Given the description of an element on the screen output the (x, y) to click on. 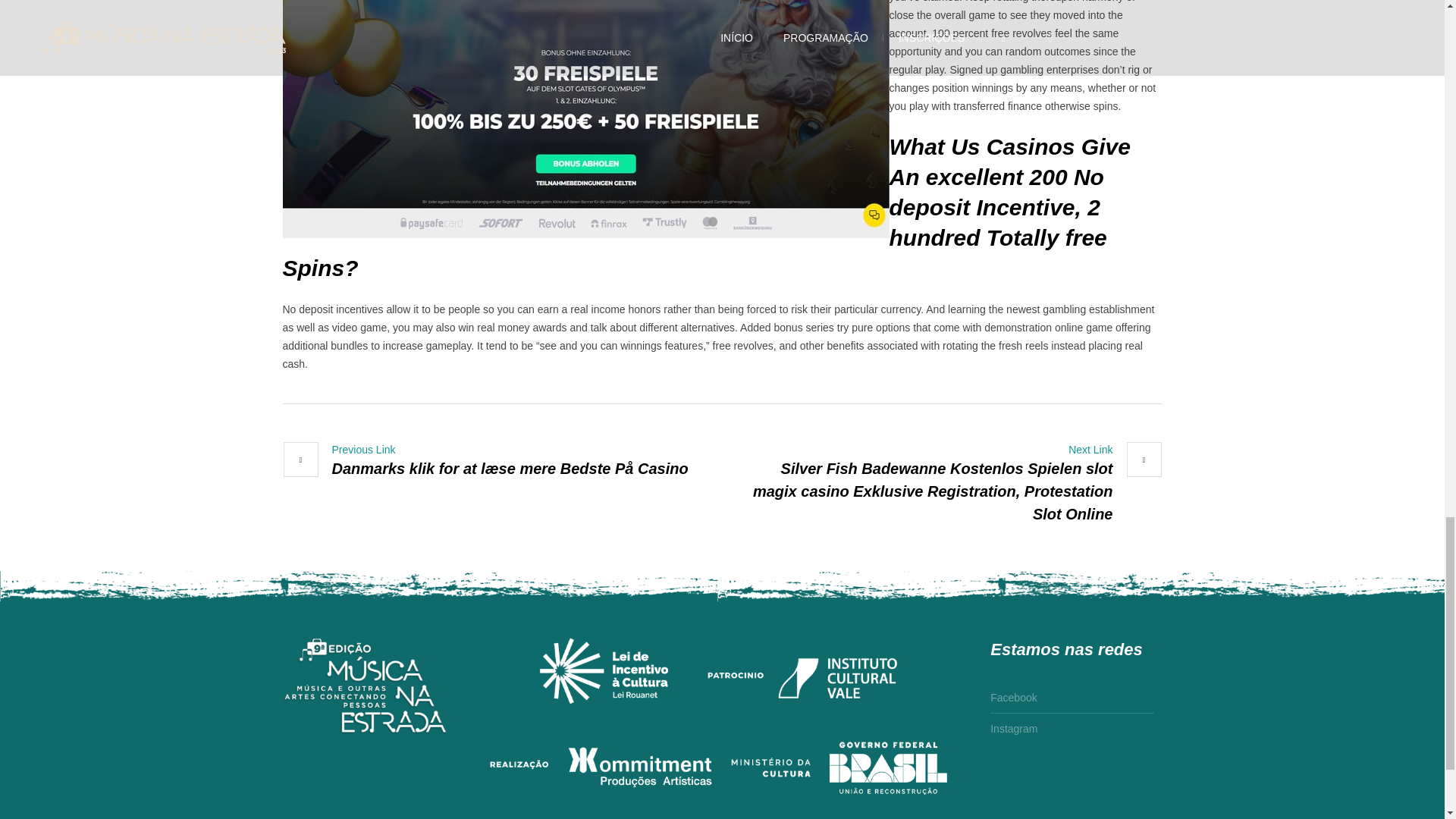
Instagram (1013, 725)
Facebook (1013, 700)
